Given the description of an element on the screen output the (x, y) to click on. 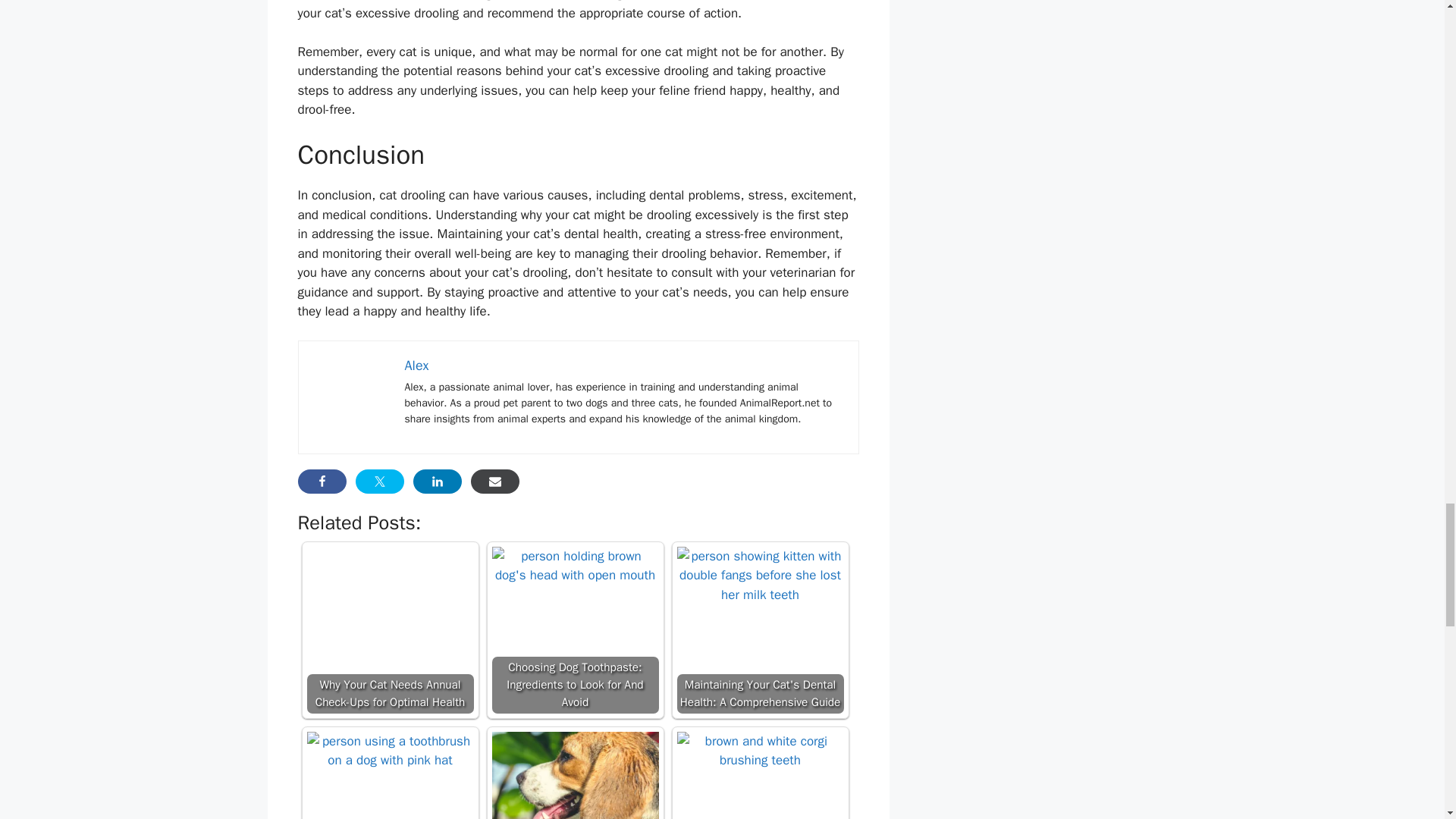
Share on Facebook (321, 481)
Brushing Your Dog Teeth: Easy Guide for Beginners (760, 751)
Why Your Cat Needs Annual Check-Ups for Optimal Health (389, 602)
Brush Up: Selecting and Using Your Dog's Toothbrush (389, 751)
Choosing Dog Toothpaste: Ingredients to Look for And Avoid (575, 566)
Share on LinkedIn (436, 481)
Dog Dental Problems: How to Spot and Prevent (575, 775)
Share via Email (494, 481)
Maintaining Your Cat's Dental Health: A Comprehensive Guide (760, 576)
Share on Twitter (379, 481)
